Given the description of an element on the screen output the (x, y) to click on. 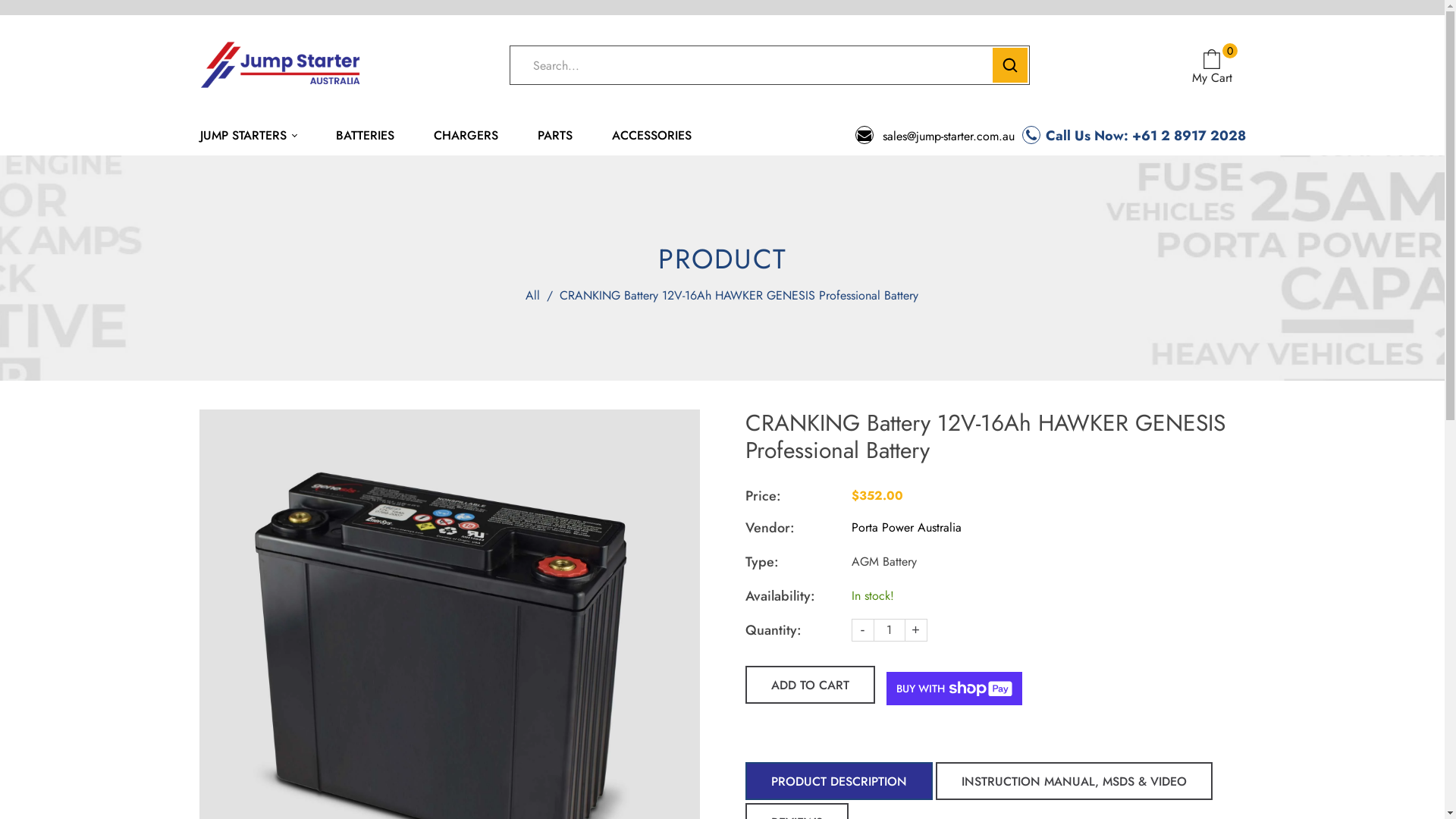
+ Element type: text (914, 629)
JUMP STARTERS Element type: text (257, 135)
All Element type: text (532, 295)
ACCESSORIES Element type: text (651, 135)
PRODUCT DESCRIPTION Element type: text (837, 781)
Porta Power Australia Element type: text (905, 527)
- Element type: text (861, 629)
sales@jump-starter.com.au Element type: text (934, 135)
PARTS Element type: text (554, 135)
ADD TO CART Element type: text (809, 684)
My Cart
0 Element type: text (1212, 68)
BATTERIES Element type: text (364, 135)
INSTRUCTION MANUAL, MSDS & VIDEO Element type: text (1073, 781)
CHARGERS Element type: text (465, 135)
